Given the description of an element on the screen output the (x, y) to click on. 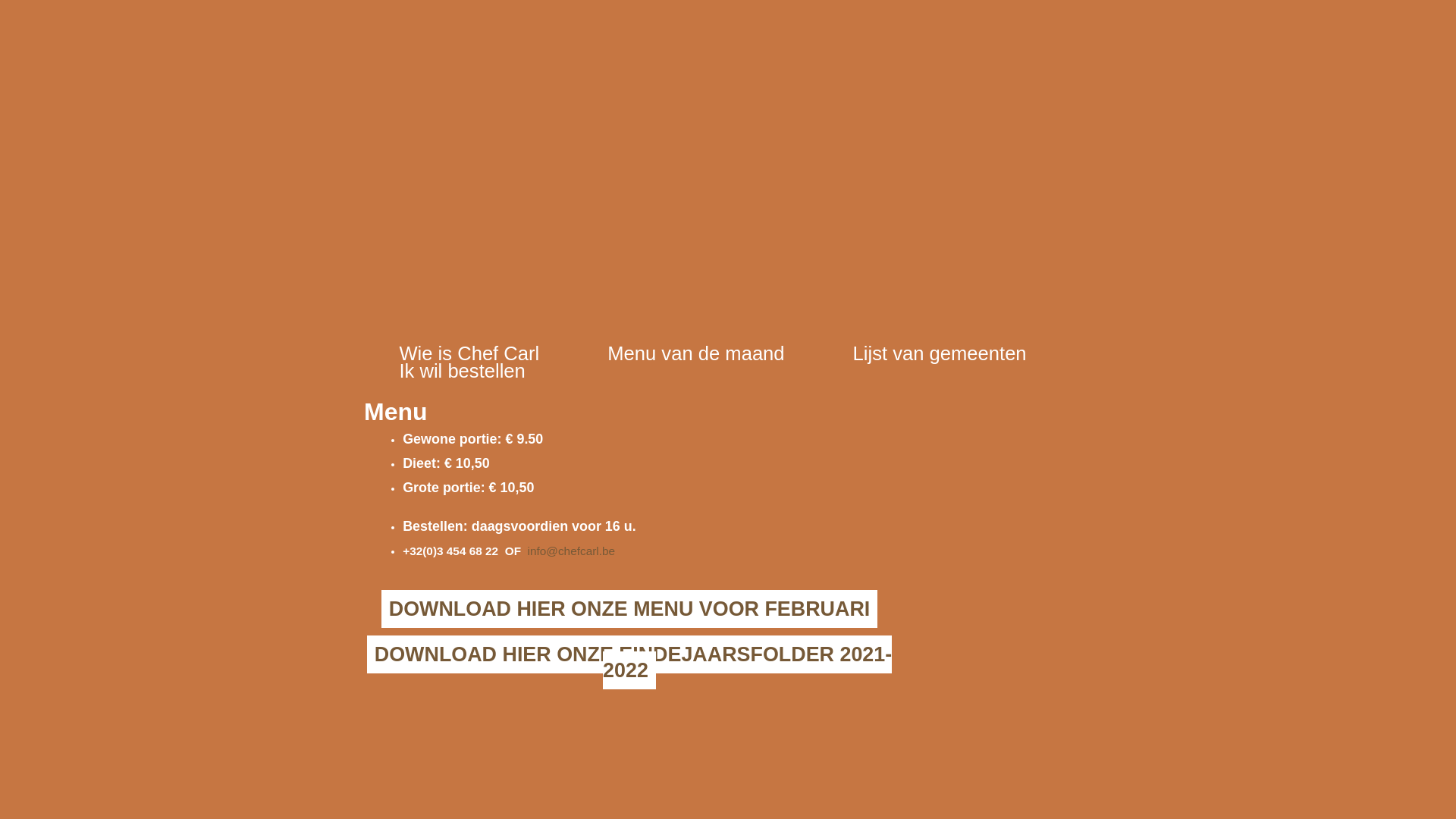
DOWNLOAD HIER ONZE MENU VOOR FEBRUARI Element type: text (629, 608)
Menu van de maand Element type: text (695, 353)
Lijst van gemeenten Element type: text (939, 353)
Wie is Chef Carl Element type: text (468, 353)
info@chefcarl.be Element type: text (571, 550)
DOWNLOAD HIER ONZE EINDEJAARSFOLDER 2021-2022 Element type: text (629, 662)
Overslaan en naar de algemene inhoud gaan Element type: text (97, 0)
Ik wil bestellen Element type: text (461, 370)
